Given the description of an element on the screen output the (x, y) to click on. 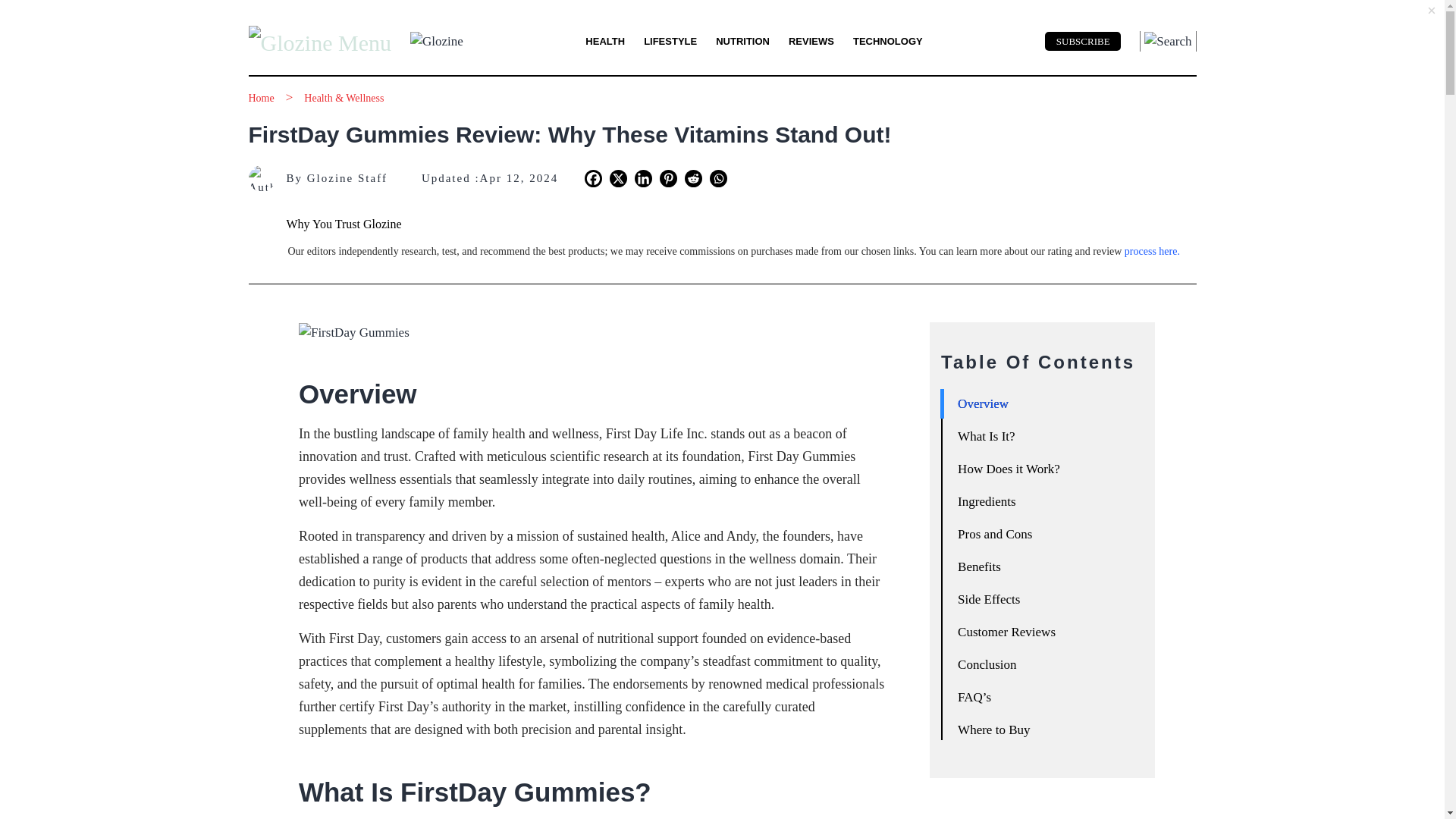
X (618, 178)
Reddit (692, 178)
TECHNOLOGY (888, 41)
What Is It? (1045, 442)
HEALTH (604, 41)
Overview (1045, 409)
Pinterest (668, 178)
LIFESTYLE (670, 41)
REVIEWS (811, 41)
Facebook (593, 178)
process here. (1151, 251)
Home (261, 98)
Linkedin (643, 178)
How Does it Work? (1045, 475)
NUTRITION (743, 41)
